Given the description of an element on the screen output the (x, y) to click on. 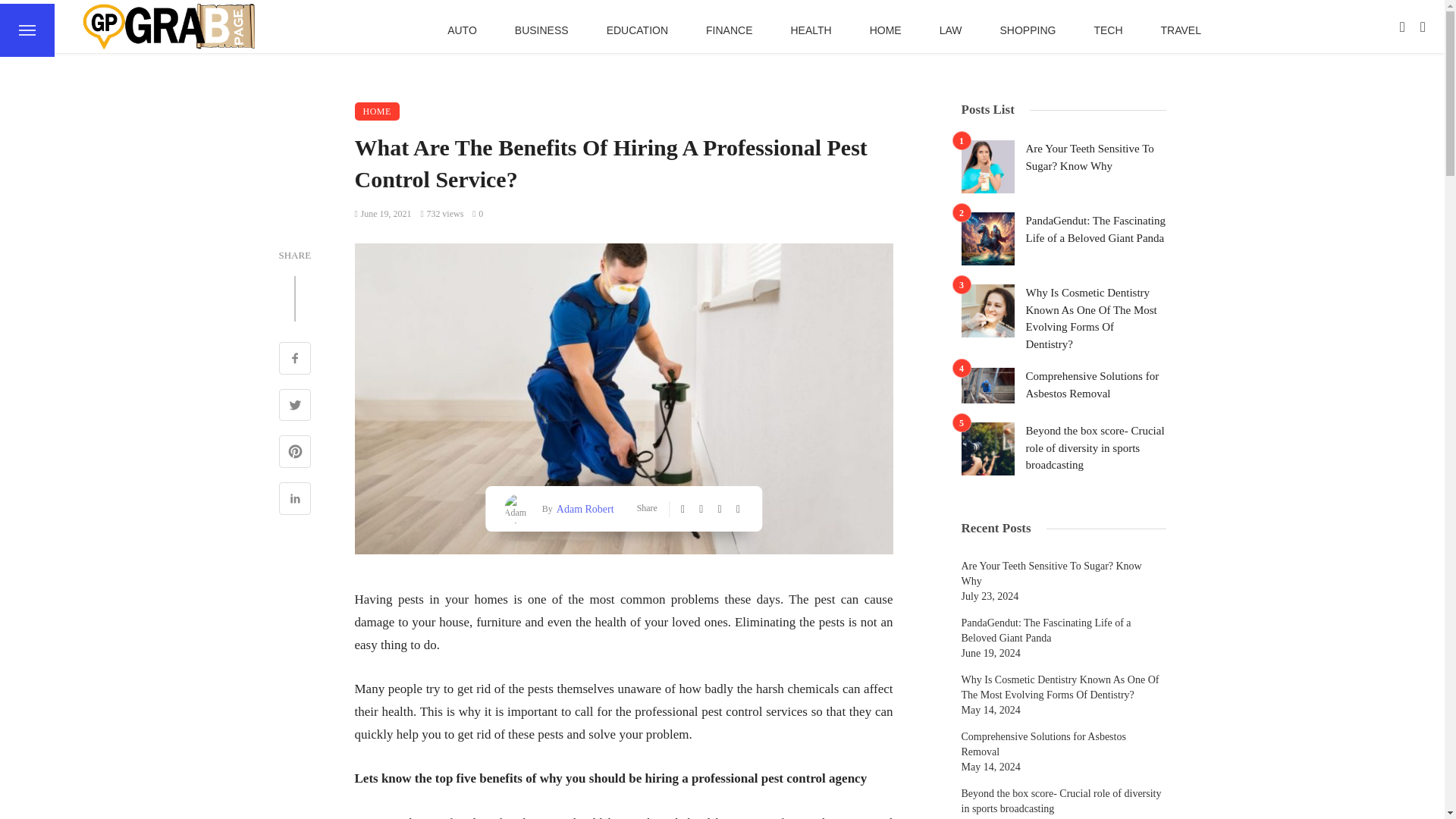
HOME (376, 111)
Adam Robert (583, 508)
0 Comments (477, 213)
SHOPPING (1028, 30)
TECH (1107, 30)
LAW (950, 30)
Share on Twitter (295, 407)
Share on Linkedin (295, 500)
TRAVEL (1180, 30)
BUSINESS (542, 30)
Share on Pinterest (295, 452)
0 (477, 213)
AUTO (462, 30)
HOME (885, 30)
HEALTH (810, 30)
